Given the description of an element on the screen output the (x, y) to click on. 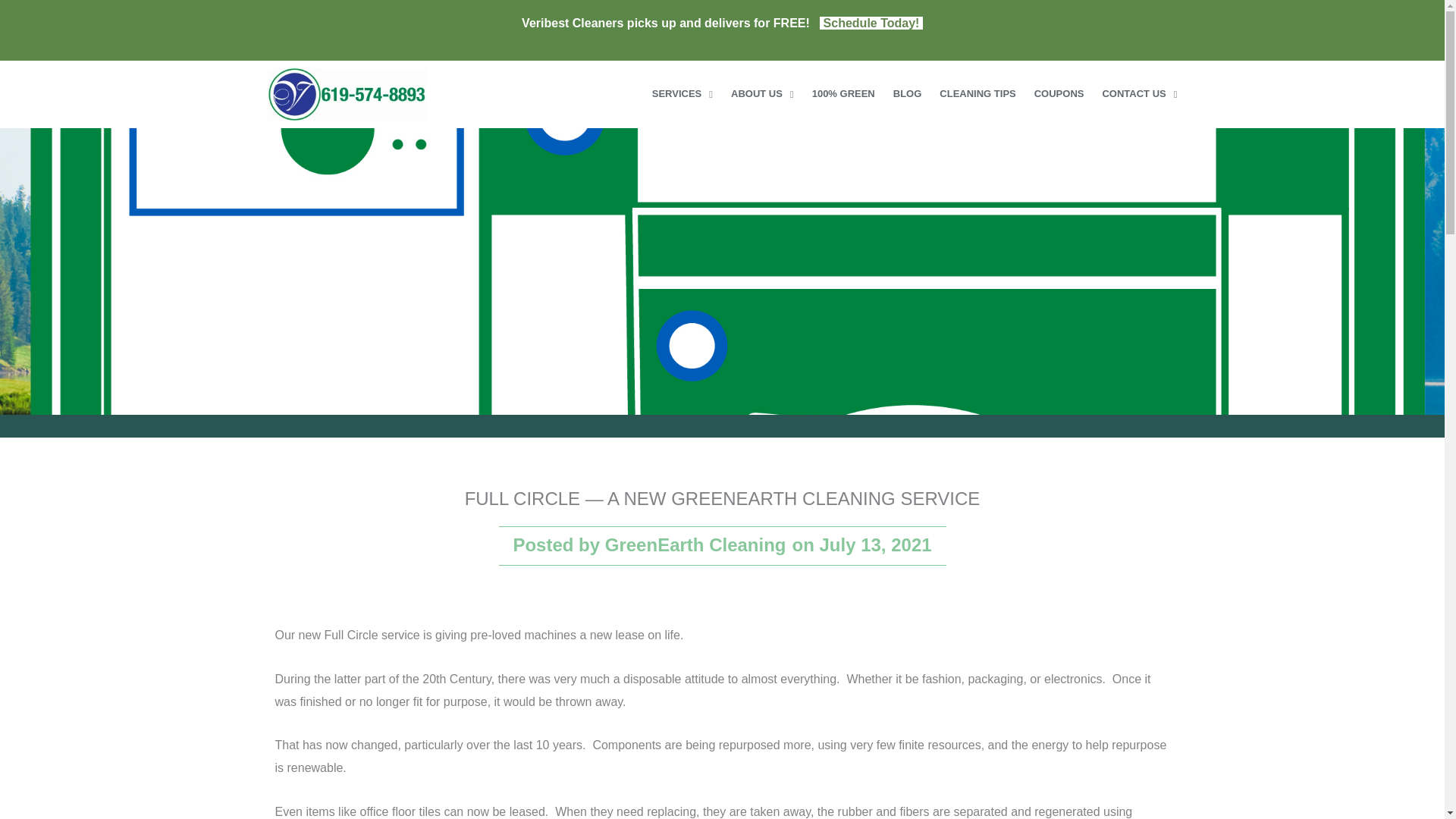
CONTACT US (1139, 94)
SERVICES (682, 94)
CLEANING TIPS (976, 94)
COUPONS (1058, 94)
 Schedule Today!  (871, 22)
ABOUT US (761, 94)
